Given the description of an element on the screen output the (x, y) to click on. 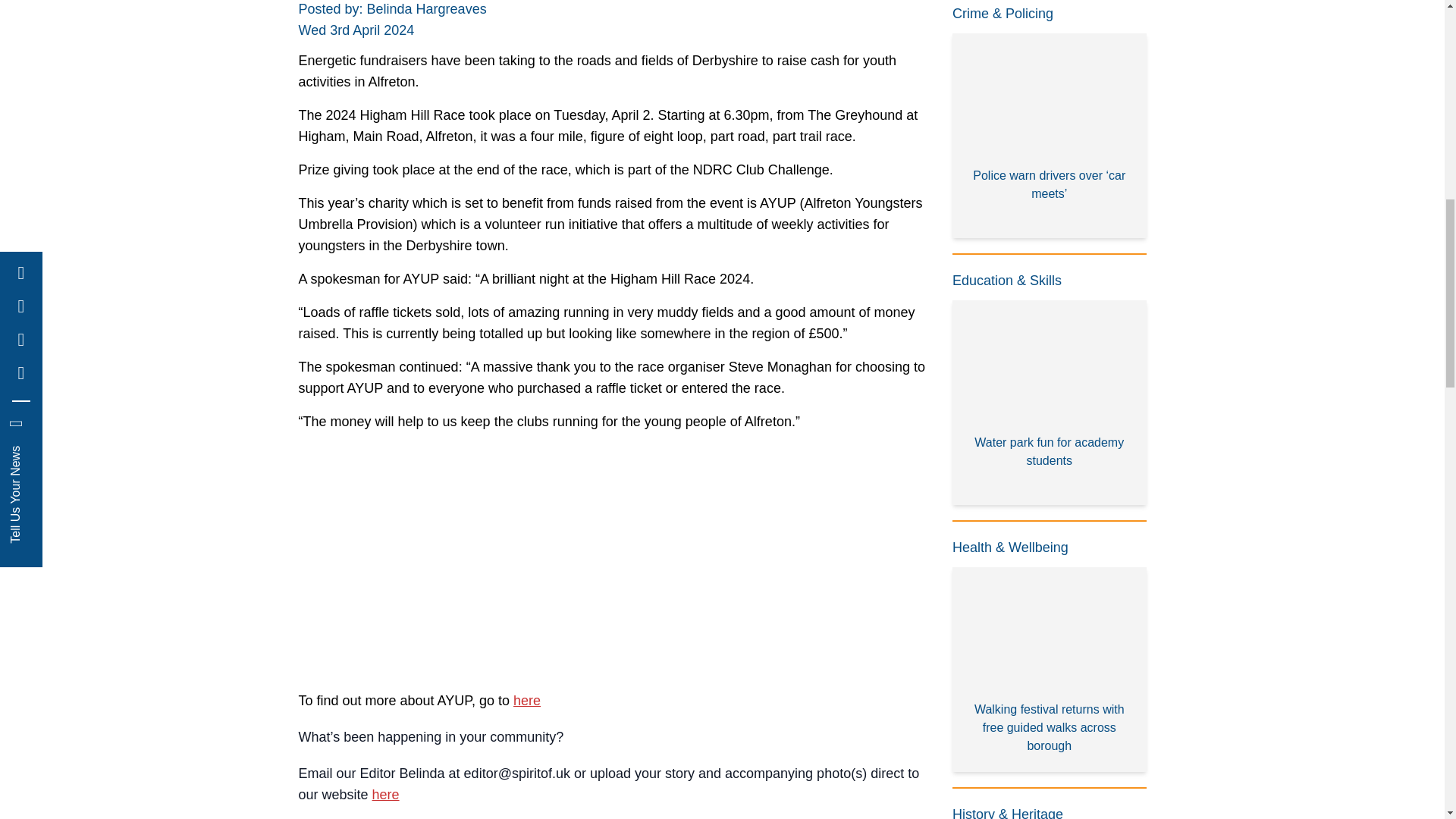
Water park fun for academy students (1049, 402)
here (385, 794)
here (526, 700)
